Given the description of an element on the screen output the (x, y) to click on. 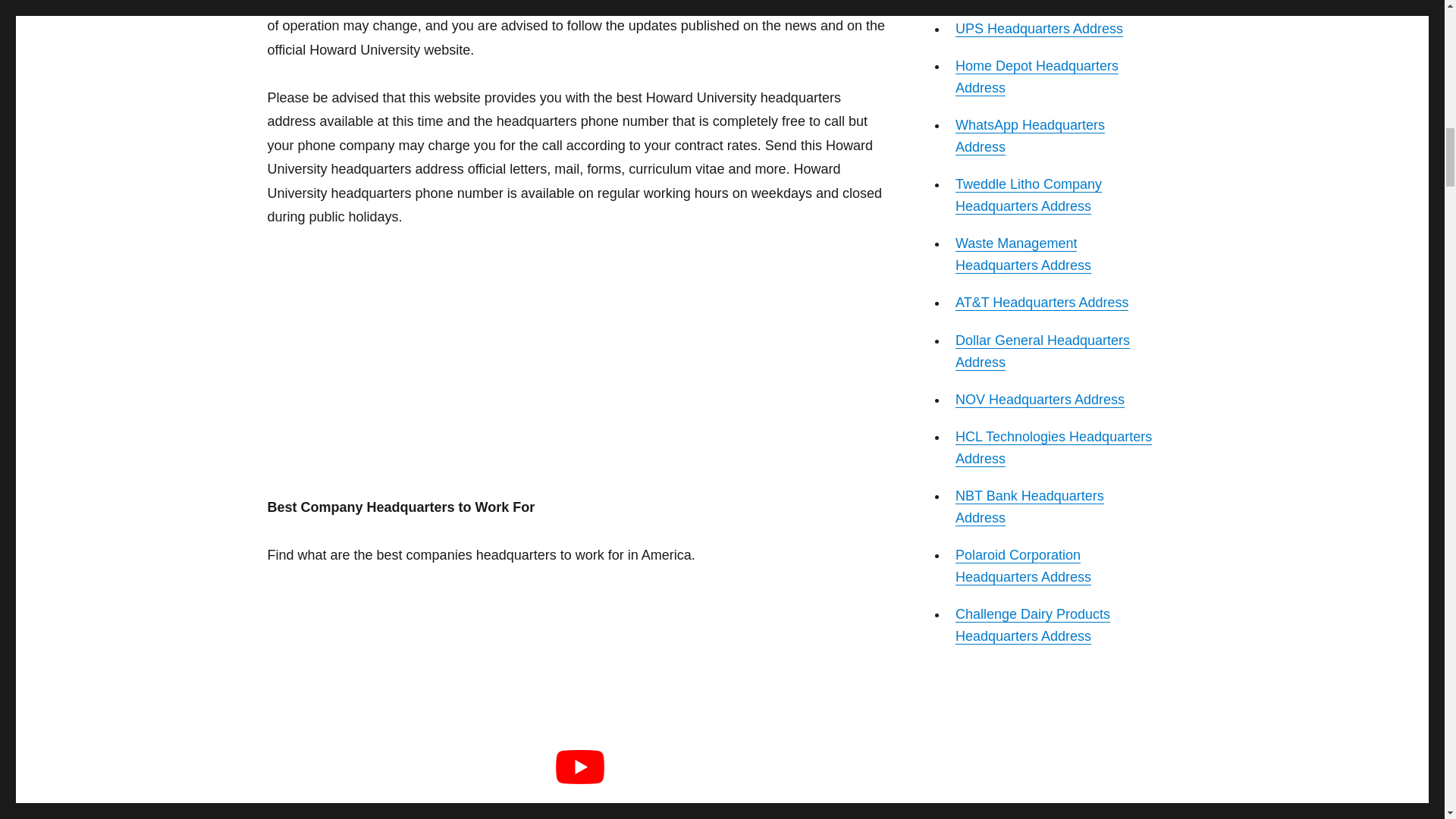
Home Depot Headquarters Address (1036, 76)
Tweddle Litho Company Headquarters Address (1028, 194)
UPS Headquarters Address (1038, 28)
Dollar General Headquarters Address (1042, 351)
Waste Management Headquarters Address (1022, 253)
HCL Technologies Headquarters Address (1053, 447)
NOV Headquarters Address (1039, 399)
WhatsApp Headquarters Address (1030, 135)
